Given the description of an element on the screen output the (x, y) to click on. 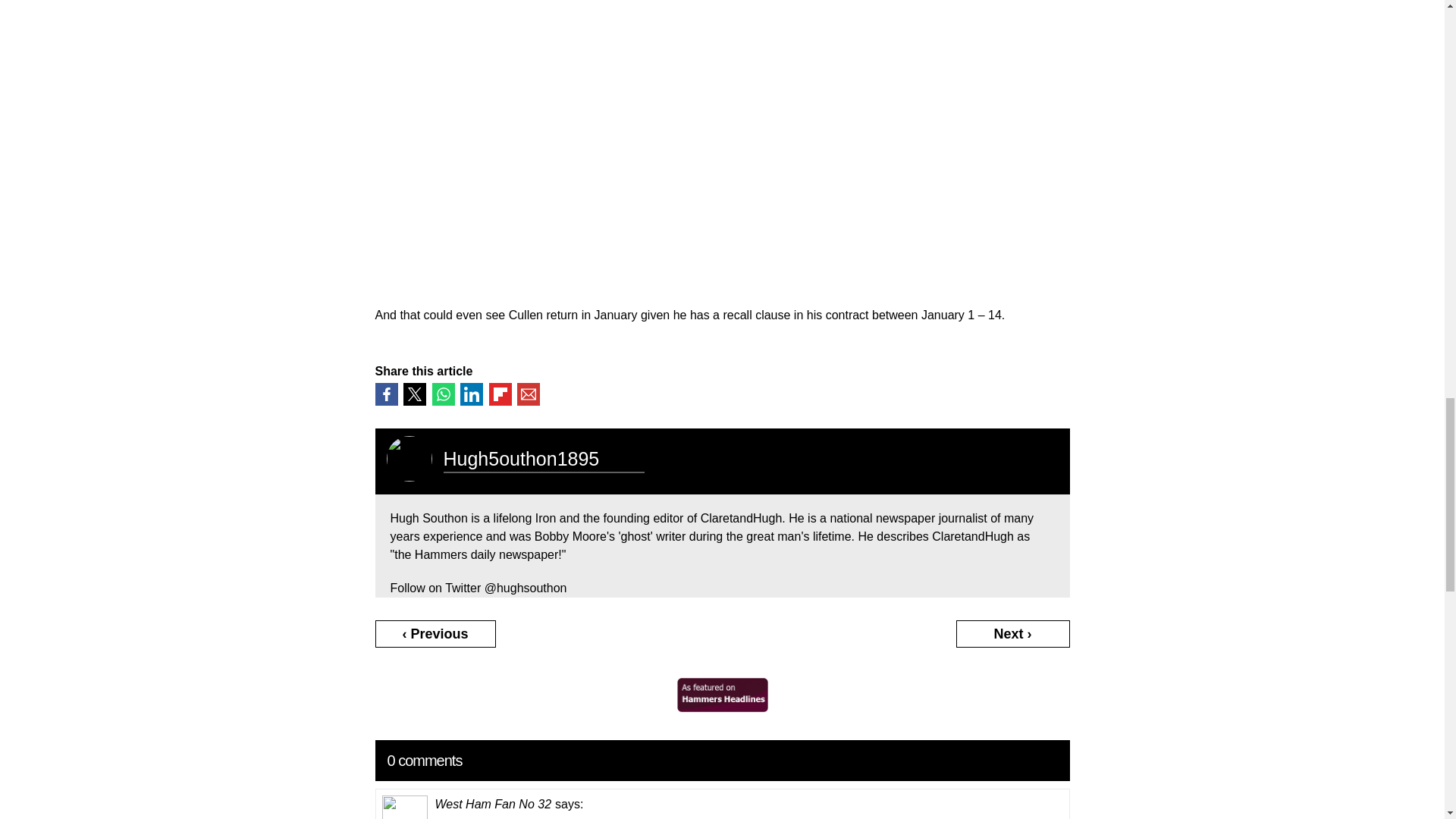
West Ham News (722, 707)
share on Twitter (414, 394)
share on LinkedIn (471, 394)
share on WhatsApp (443, 394)
share on Email (528, 394)
share on Flipboard (499, 394)
share on Facebook (385, 394)
Hugh5outhon1895 (520, 458)
